Given the description of an element on the screen output the (x, y) to click on. 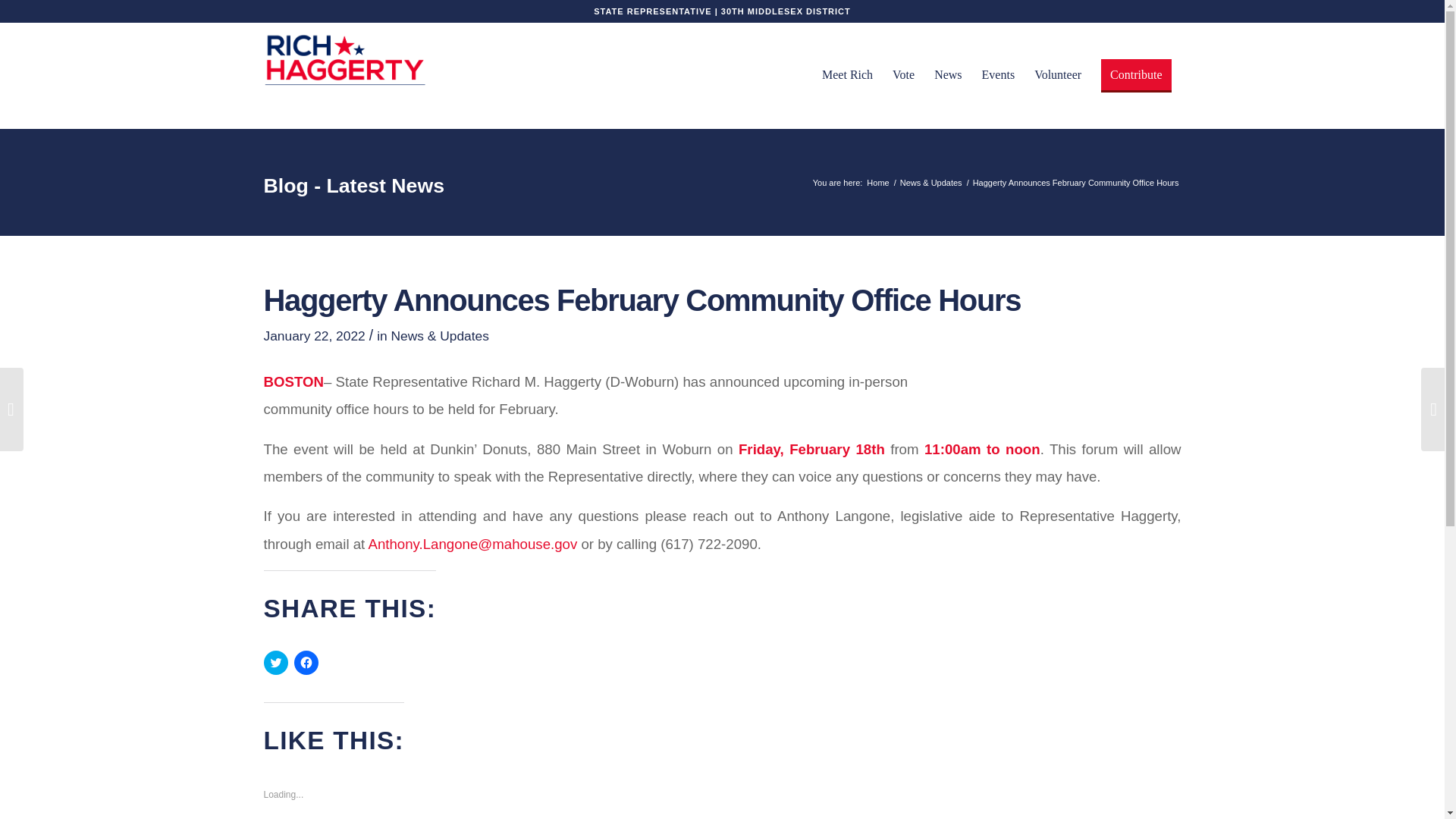
Blog - Latest News (353, 185)
Permanent Link: Blog - Latest News (353, 185)
Click to share on Facebook (306, 662)
Haggerty Announces February Community Office Hours (642, 299)
Home (877, 183)
Click to share on Twitter (275, 662)
Rich Haggerty (877, 183)
